Given the description of an element on the screen output the (x, y) to click on. 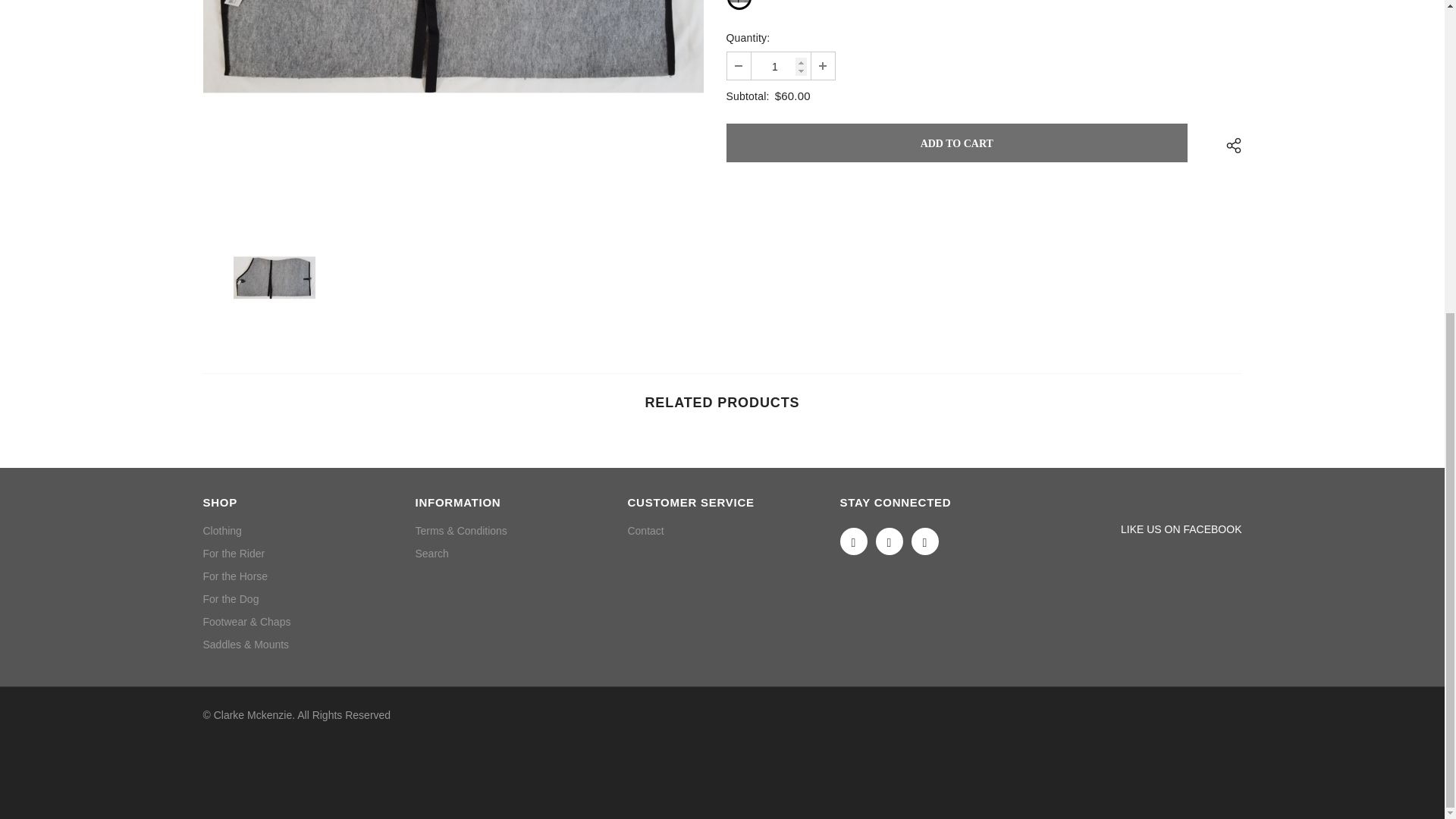
For the Rider (233, 553)
Clothing (222, 530)
For the Rider (233, 553)
Add to cart (957, 142)
Add to cart (957, 142)
1 (780, 65)
For the Horse (235, 576)
Clothing (222, 530)
For the Horse (235, 576)
